Given the description of an element on the screen output the (x, y) to click on. 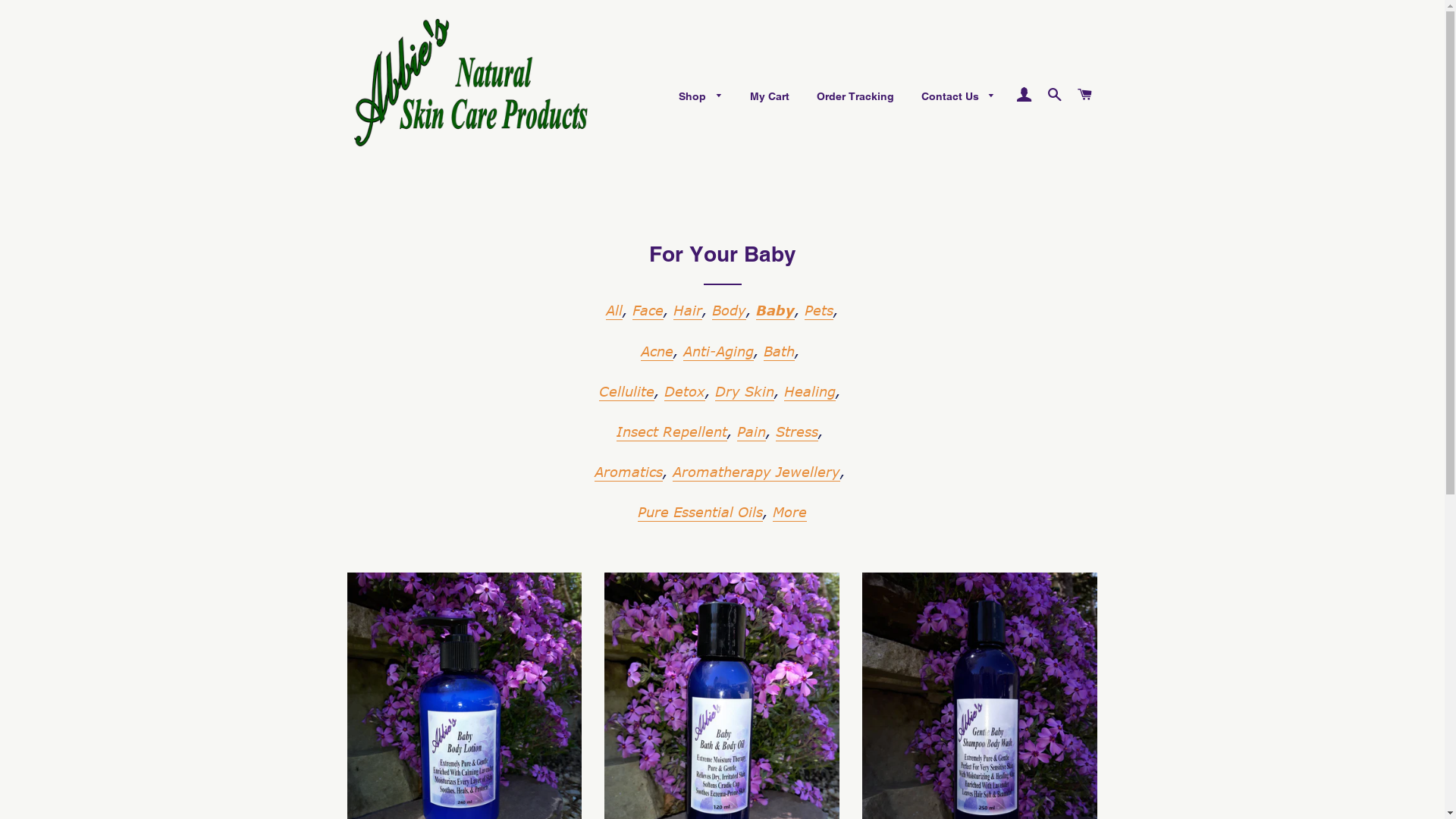
Body Element type: text (729, 310)
My Cart Element type: text (769, 96)
Stress Element type: text (796, 432)
Detox Element type: text (684, 391)
Shop Element type: text (700, 96)
Search Element type: text (1053, 94)
Contact Us Element type: text (958, 96)
Dry Skin Element type: text (744, 391)
Insect Repellent Element type: text (671, 432)
Aromatherapy Jewellery Element type: text (756, 472)
Bath Element type: text (777, 351)
Order Tracking Element type: text (855, 96)
Log In Element type: text (1023, 94)
All Element type: text (613, 310)
Cart Element type: text (1084, 94)
Aromatics Element type: text (628, 472)
Pure Essential Oils Element type: text (699, 512)
Acne Element type: text (656, 351)
Hair Element type: text (687, 310)
Healing Element type: text (809, 391)
Face Element type: text (647, 310)
Anti-Aging Element type: text (717, 351)
More Element type: text (789, 512)
Pain Element type: text (751, 432)
Cellulite Element type: text (626, 391)
Pets Element type: text (818, 310)
Baby Element type: text (775, 310)
